Given the description of an element on the screen output the (x, y) to click on. 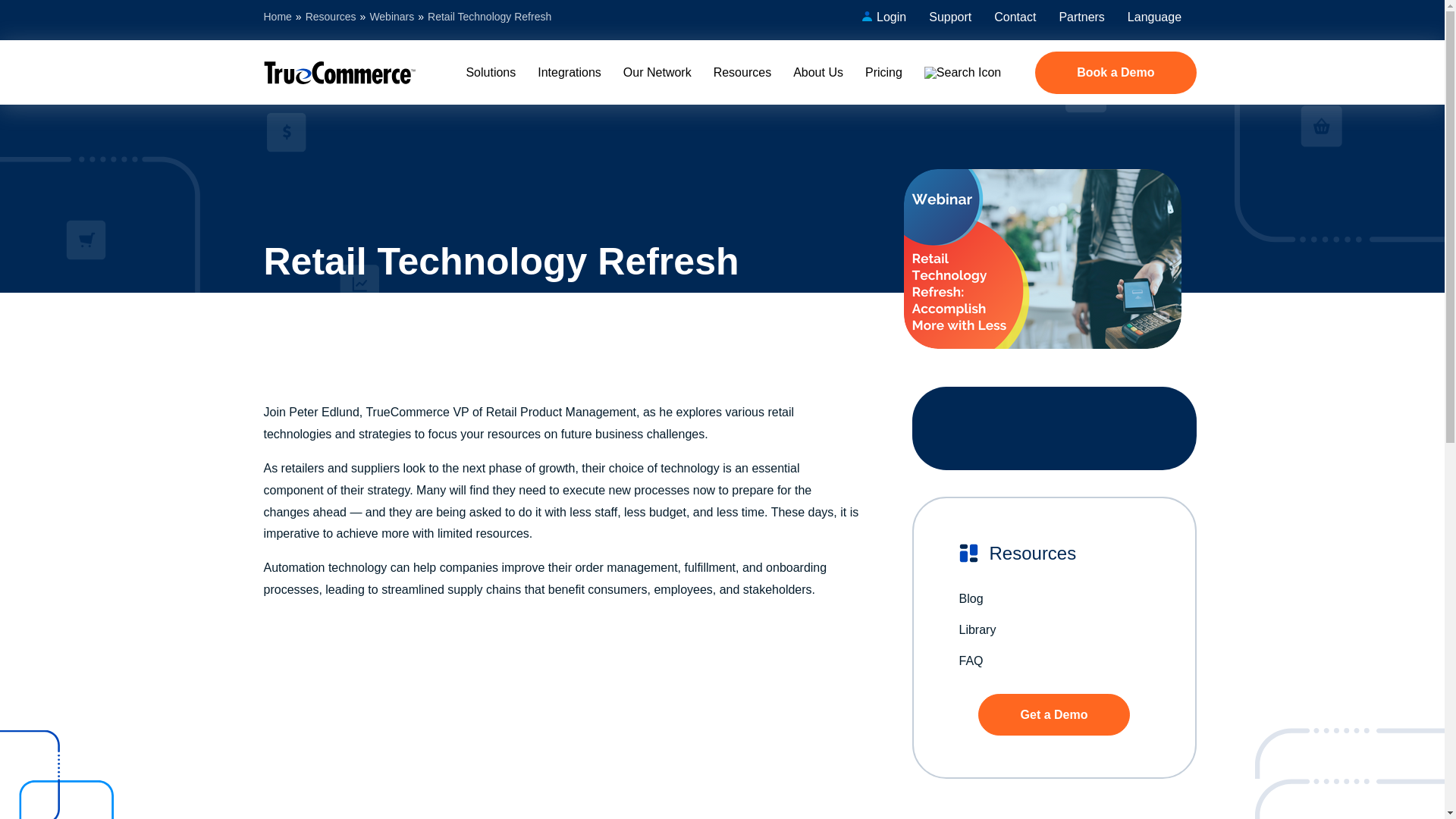
Home (277, 16)
Partners (1080, 19)
Resources (330, 16)
Click Here (1053, 714)
Solutions (489, 72)
Contact (1014, 19)
Webinars (391, 16)
TC-resource-icon (968, 552)
Login (884, 20)
TrueCommerce-logo (338, 72)
